Given the description of an element on the screen output the (x, y) to click on. 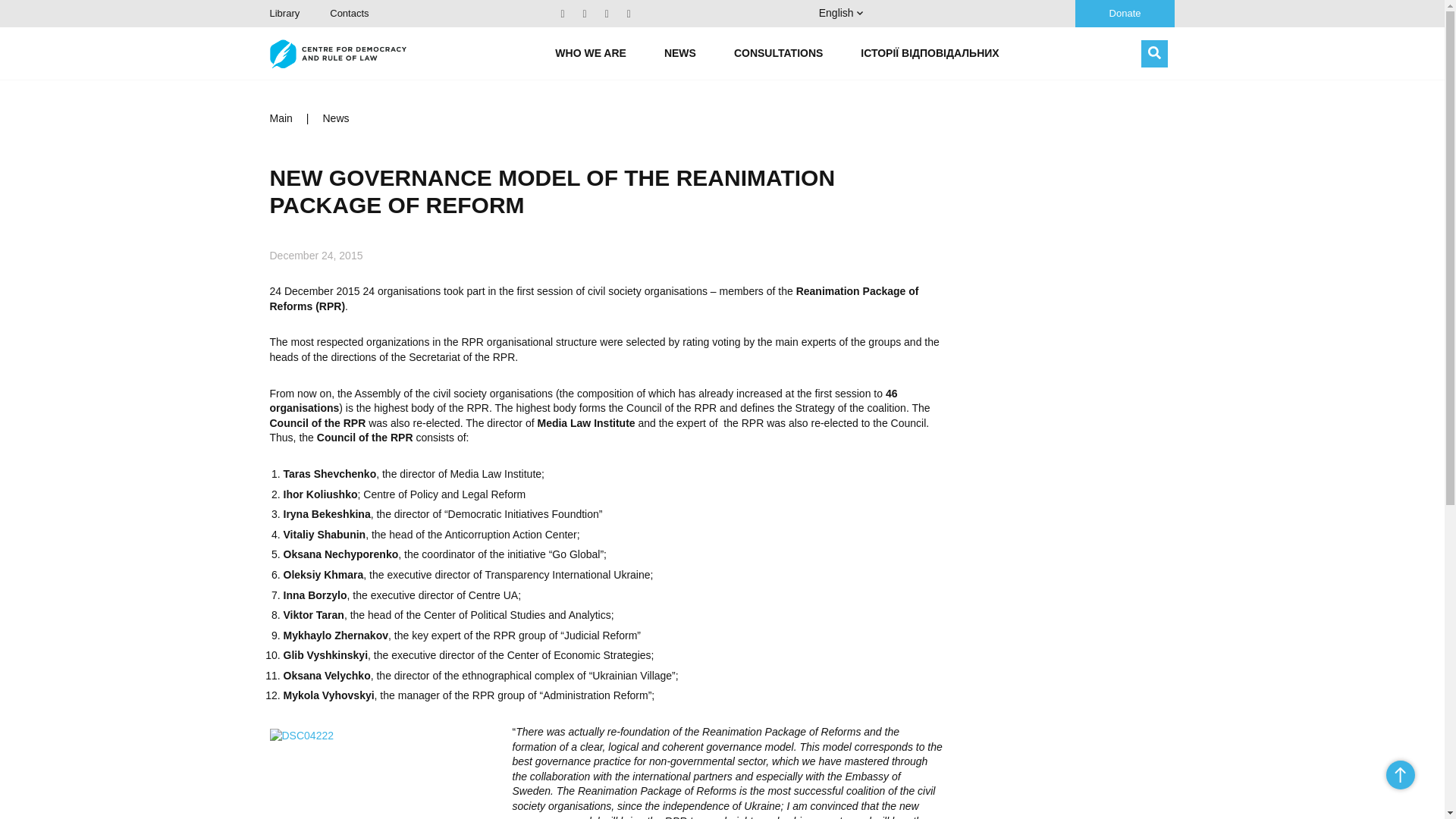
CONSULTATIONS (777, 53)
Library (284, 12)
Contacts (349, 12)
News (336, 118)
Donate (1124, 13)
WHO WE ARE (590, 53)
Main (280, 118)
CENTER FOR DEMOCRACY AND RULE OF LAW (337, 53)
